Given the description of an element on the screen output the (x, y) to click on. 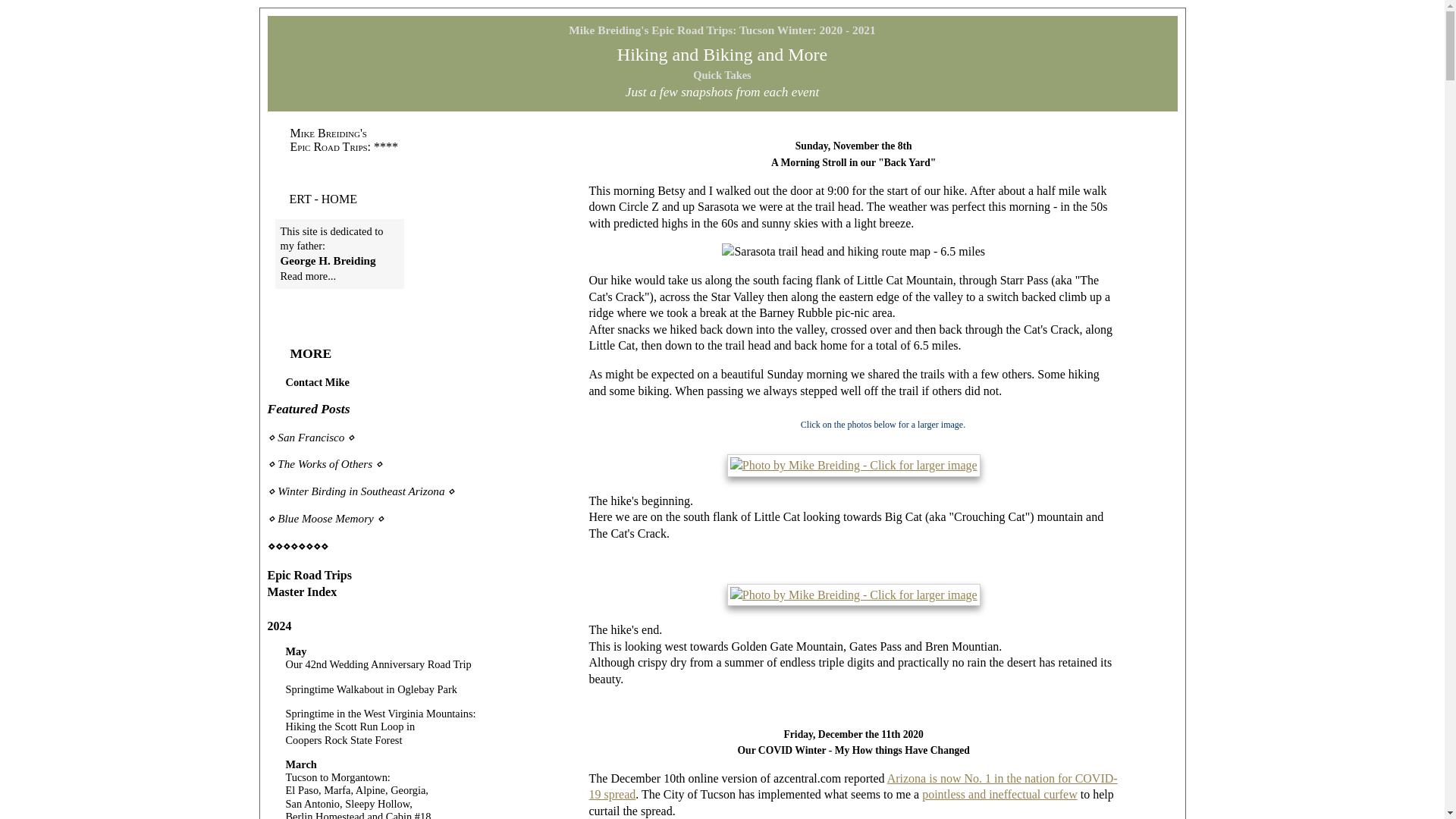
pointless and ineffectual curfew (999, 793)
Sarasota trail head and hiking route map - 6.5 miles (853, 251)
pointless and ineffectual curfew (999, 793)
Arizona is now No. 1 in the nation for COVID-19 spread (853, 786)
Photo by Mike Breiding - Click for larger image (852, 465)
Photo by Mike Breiding - Click for larger image (852, 594)
Arizona is now No. 1 in the nation for COVID-19 spread (853, 786)
